Given the description of an element on the screen output the (x, y) to click on. 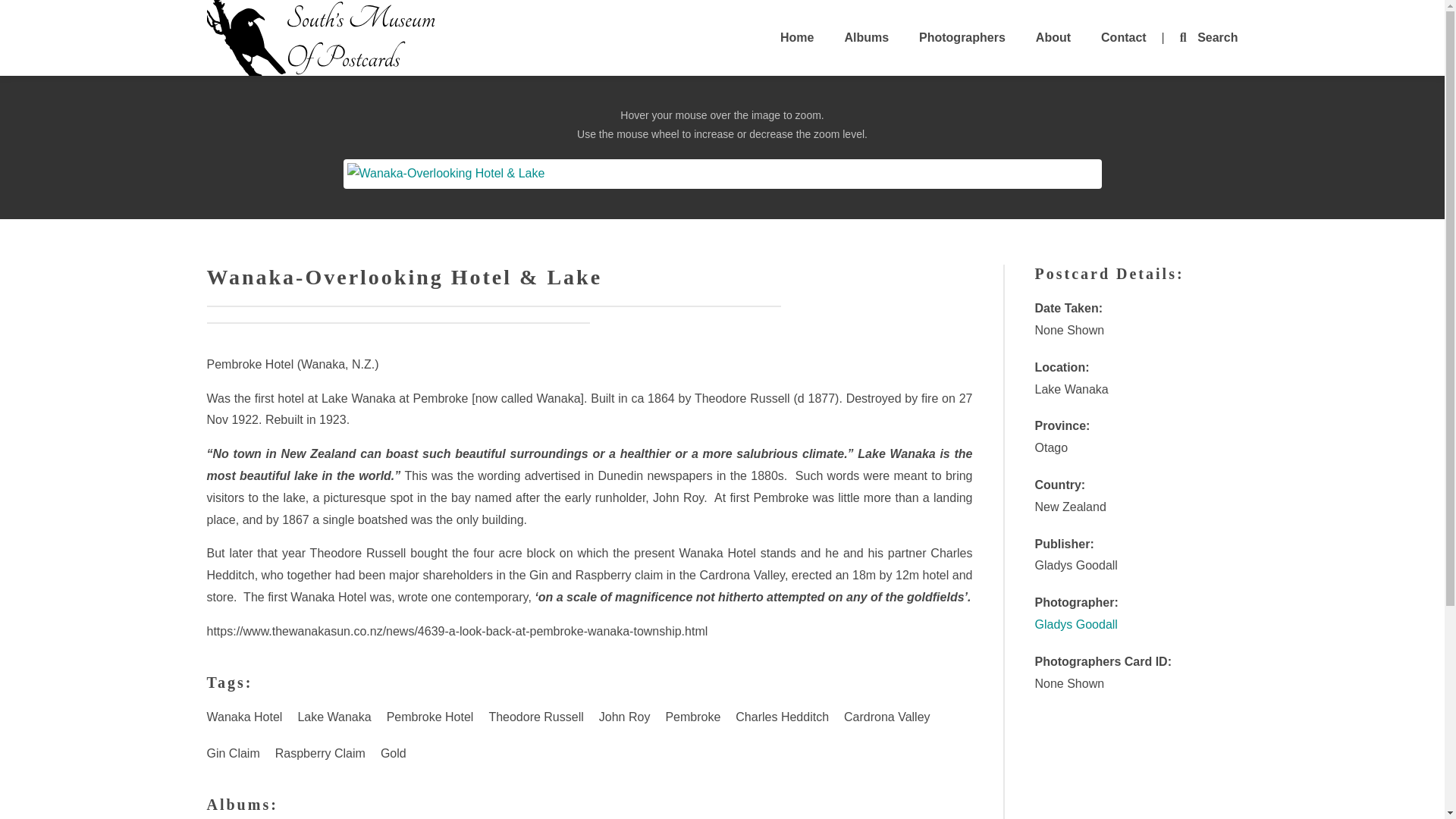
Photographers (962, 37)
Home (796, 37)
Pembroke (693, 717)
Gin Claim (232, 754)
Raspberry Claim (319, 754)
John Roy (624, 717)
Gold (392, 754)
About (1053, 37)
Lake Wanaka (333, 717)
Souths Museum of Postcards Home (319, 38)
Cardrona Valley (886, 717)
Albums (866, 37)
Charles Hedditch (781, 717)
Theodore Russell (535, 717)
Contact (1123, 37)
